Given the description of an element on the screen output the (x, y) to click on. 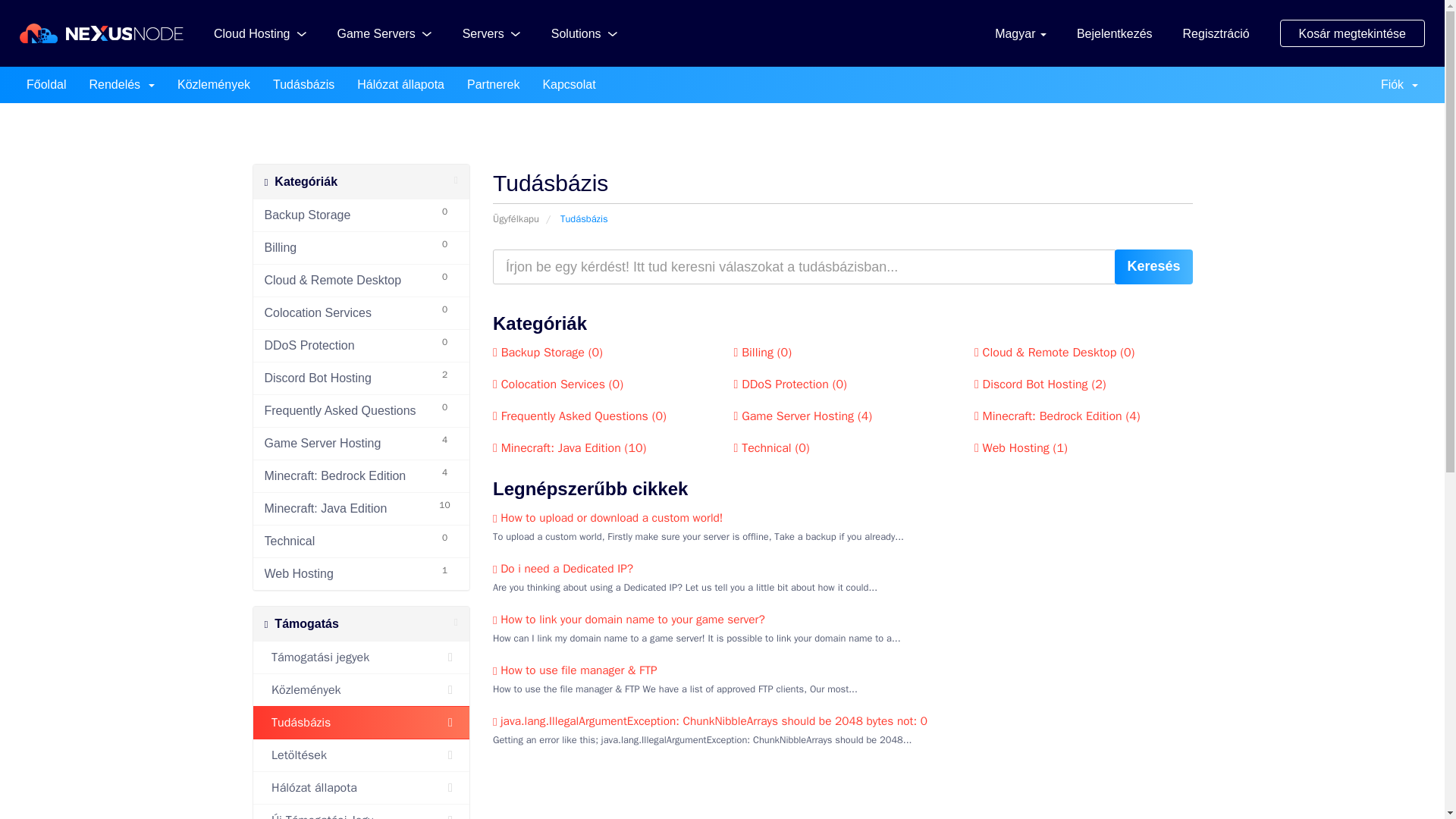
Servers (492, 33)
Magyar (1020, 33)
Solutions (584, 33)
Game Servers (383, 33)
Cloud Hosting (260, 33)
